Given the description of an element on the screen output the (x, y) to click on. 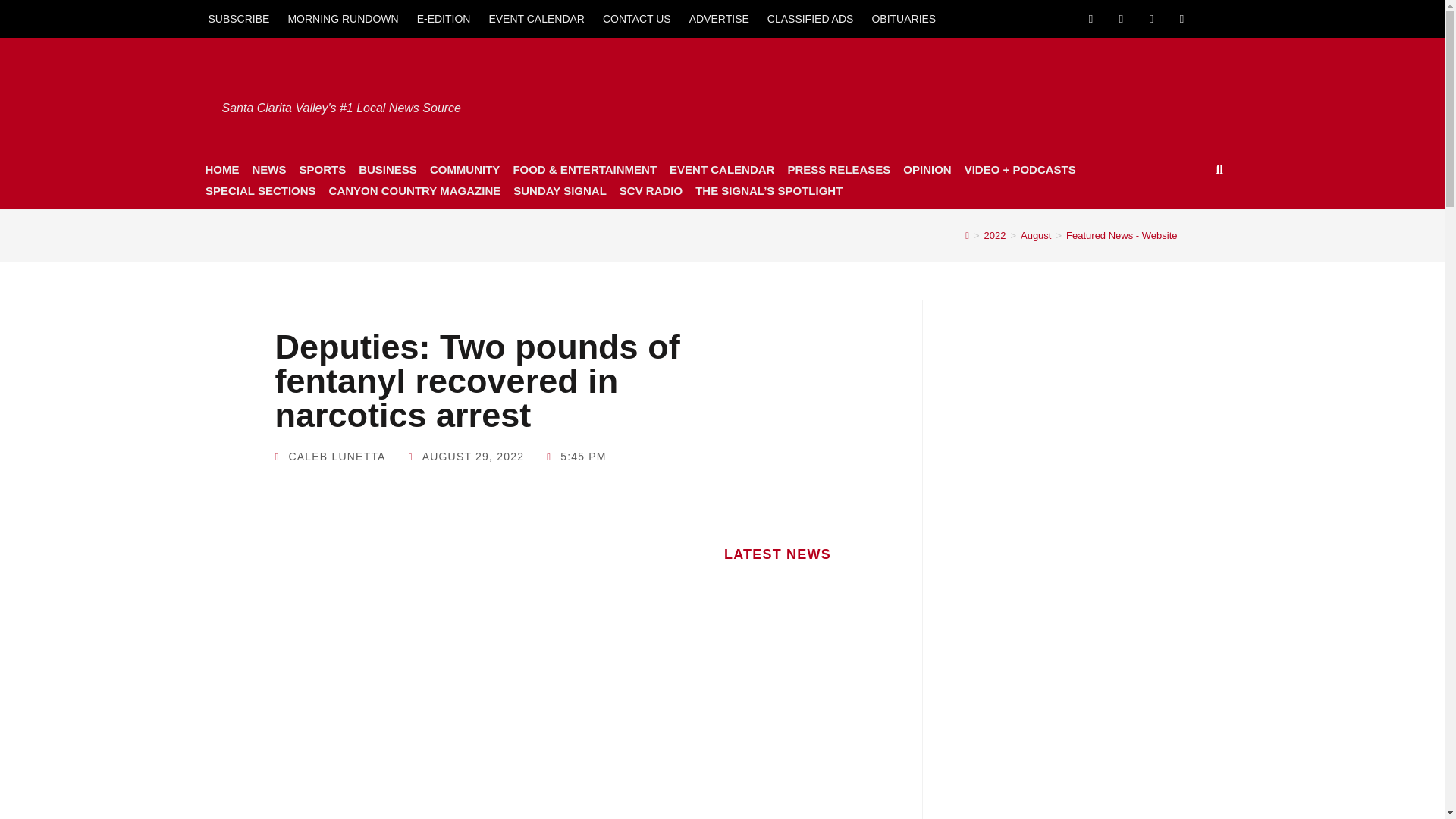
E-EDITION (443, 18)
EVENT CALENDAR (536, 18)
NEWS (269, 169)
SUBSCRIBE (238, 18)
CLASSIFIED ADS (810, 18)
OBITUARIES (902, 18)
HOME (221, 169)
CONTACT US (636, 18)
SPORTS (322, 169)
MORNING RUNDOWN (342, 18)
ADVERTISE (718, 18)
